Given the description of an element on the screen output the (x, y) to click on. 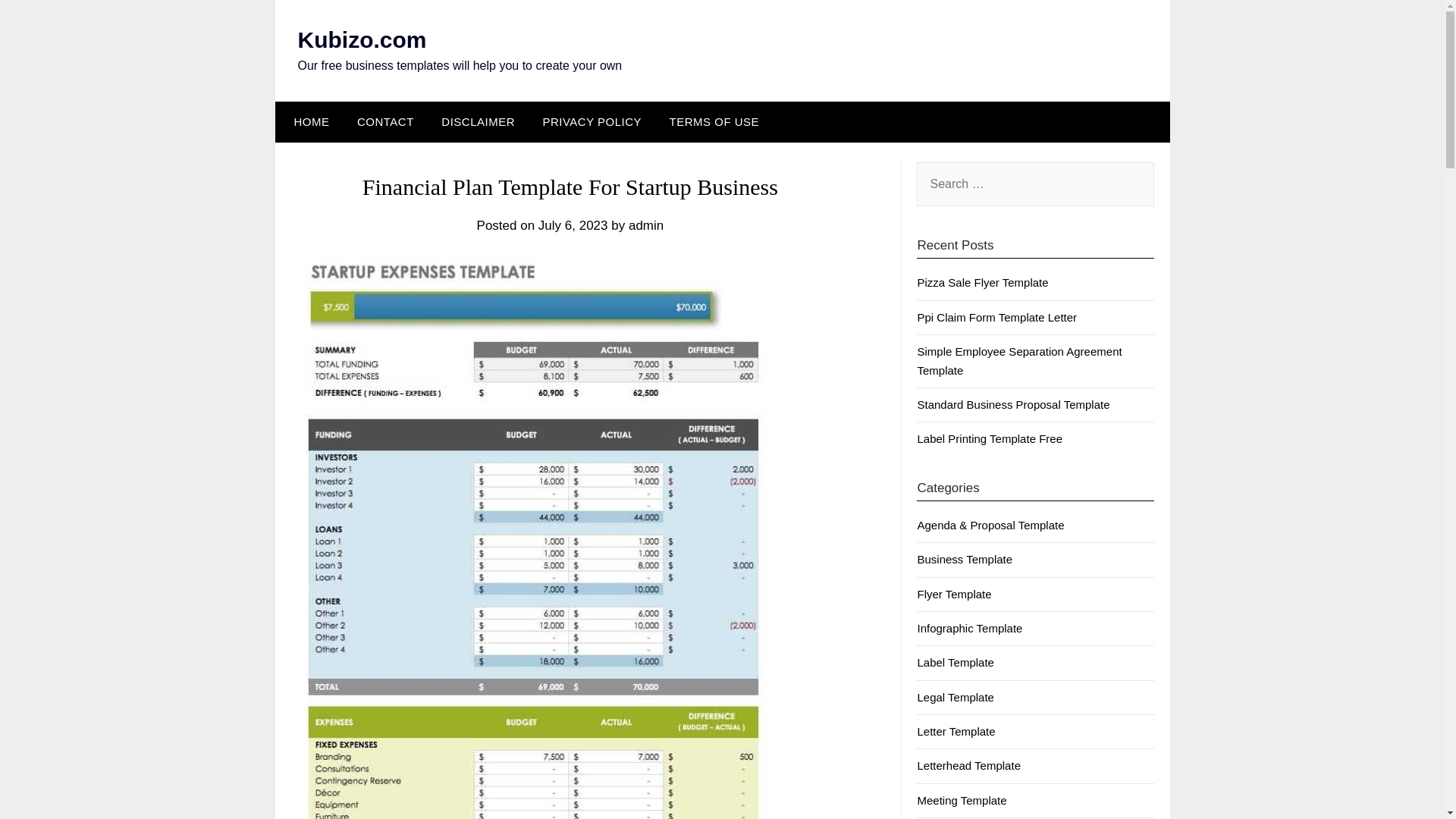
Search (38, 22)
Ppi Claim Form Template Letter (997, 317)
CONTACT (385, 121)
Pizza Sale Flyer Template (982, 282)
PRIVACY POLICY (591, 121)
Legal Template (954, 697)
DISCLAIMER (478, 121)
admin (645, 225)
Infographic Template (969, 627)
Letterhead Template (968, 765)
